Given the description of an element on the screen output the (x, y) to click on. 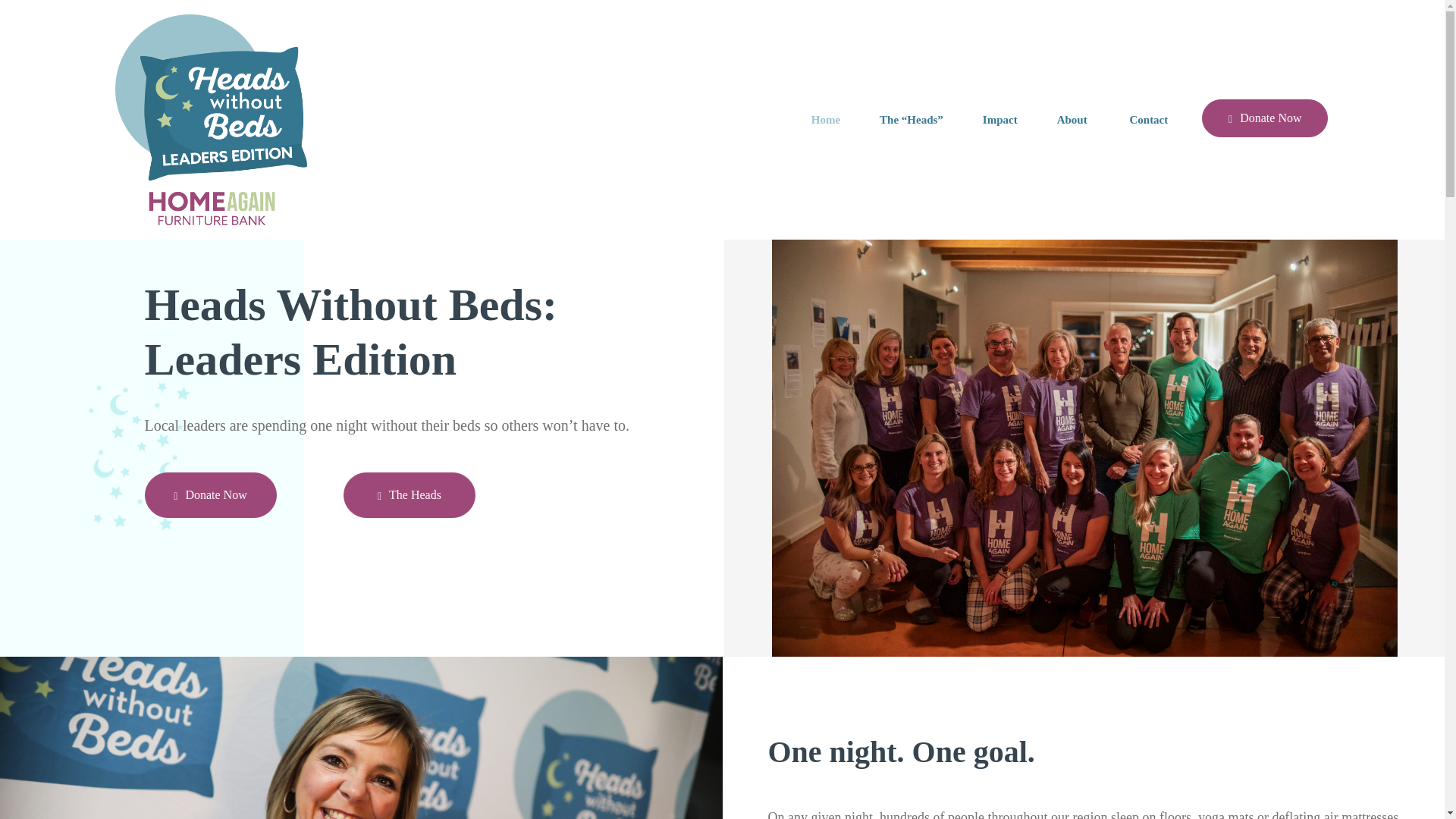
Impact (999, 119)
Donate Now (210, 494)
Home (825, 119)
Contact (1148, 119)
Donate Now (1264, 118)
About  (1073, 119)
The Heads (409, 494)
